Given the description of an element on the screen output the (x, y) to click on. 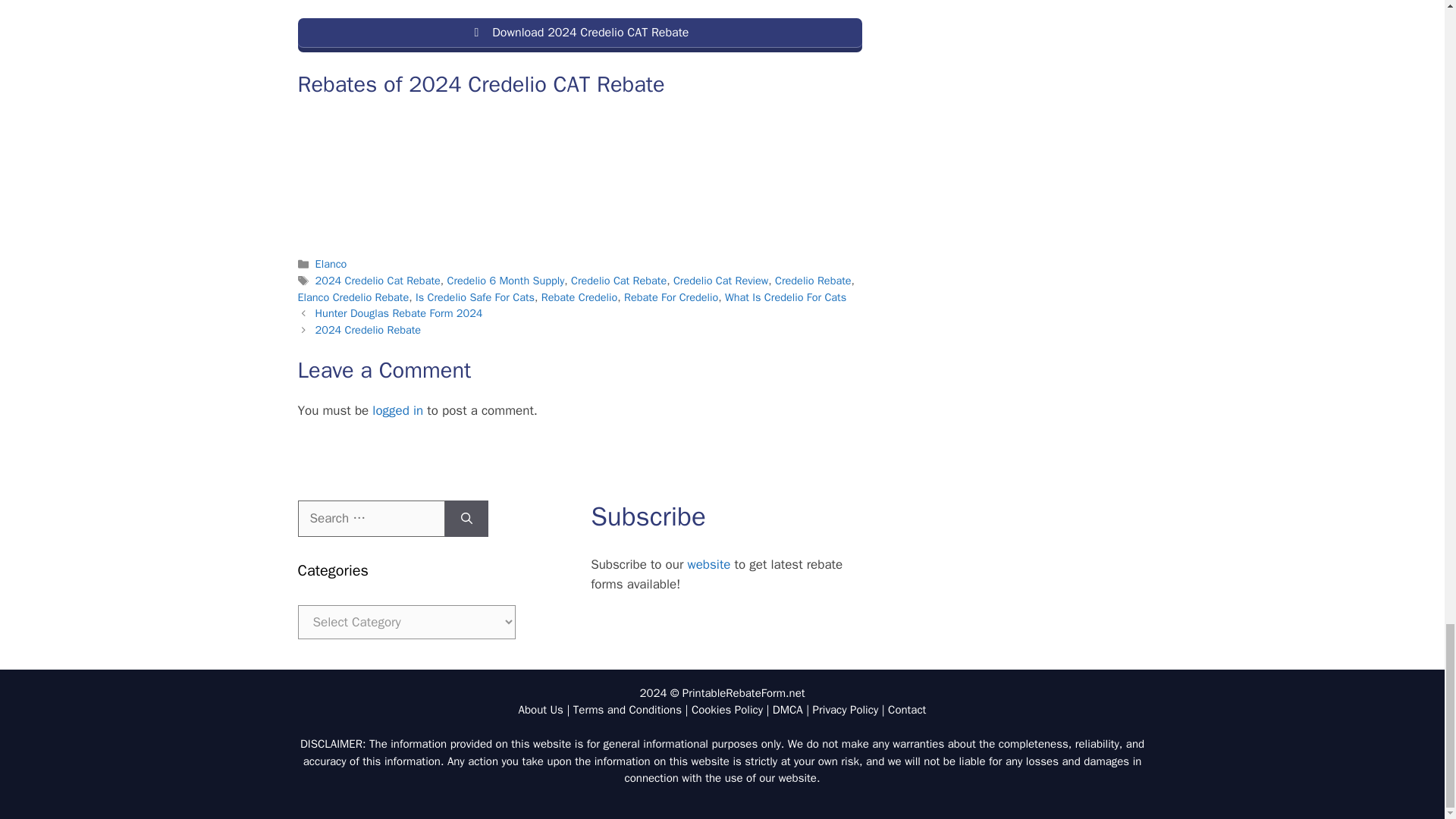
Credelio Cat Rebate (618, 280)
What Is Credelio For Cats (785, 296)
Download 2024 Credelio CAT Rebate (579, 35)
Is Credelio Safe For Cats (474, 296)
logged in (397, 410)
Hunter Douglas Rebate Form 2024 (399, 313)
Elanco Credelio Rebate (353, 296)
Elanco (331, 264)
Credelio Rebate (812, 280)
Search for: (370, 518)
Rebate For Credelio (670, 296)
Rebate Credelio (579, 296)
2024 Credelio Rebate (368, 329)
Credelio 6 Month Supply (505, 280)
2024 Credelio Cat Rebate (378, 280)
